Given the description of an element on the screen output the (x, y) to click on. 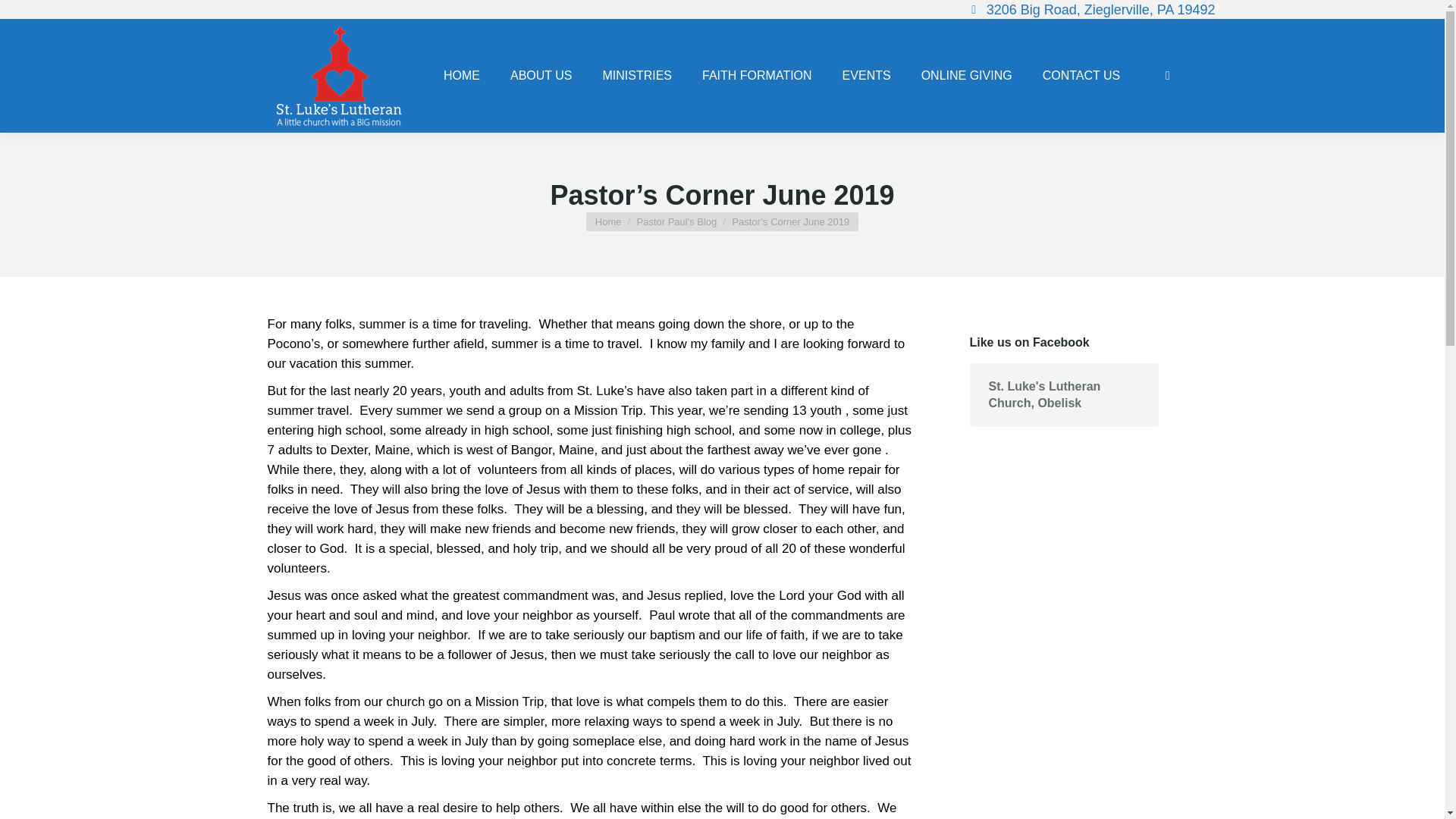
ONLINE GIVING (966, 75)
MINISTRIES (636, 75)
EVENTS (866, 75)
HOME (461, 75)
Go! (24, 16)
CONTACT US (1081, 75)
Home (608, 220)
Pastor Paul's Blog (676, 220)
ABOUT US (540, 75)
FAITH FORMATION (756, 75)
